Given the description of an element on the screen output the (x, y) to click on. 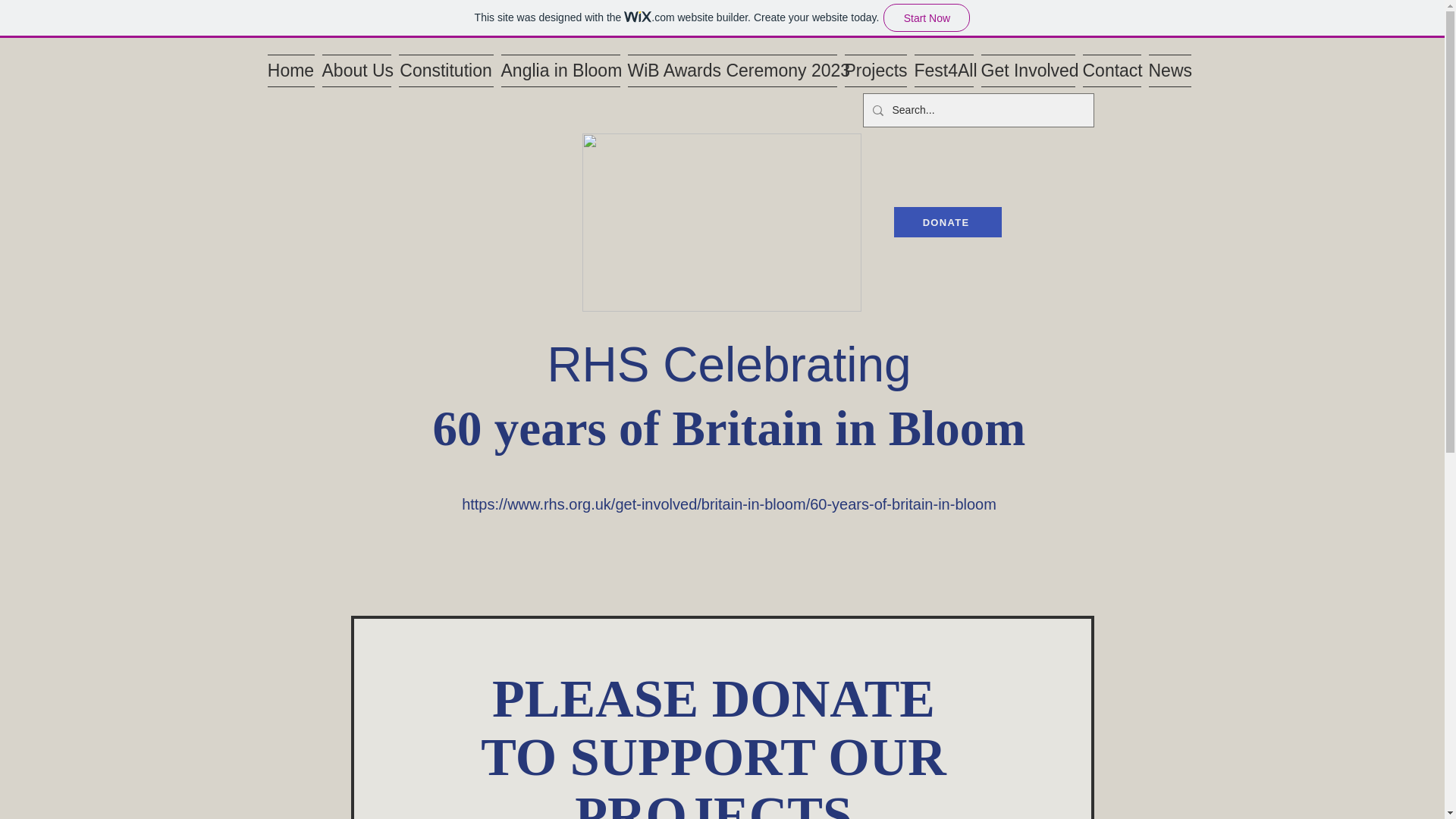
Contact (1111, 70)
Fest4All (943, 70)
DONATE (947, 222)
Constitution (445, 70)
Home (291, 70)
Projects (875, 70)
Anglia in Bloom (560, 70)
About Us (356, 70)
WiB Awards Ceremony 2023 (731, 70)
News (1167, 70)
